Given the description of an element on the screen output the (x, y) to click on. 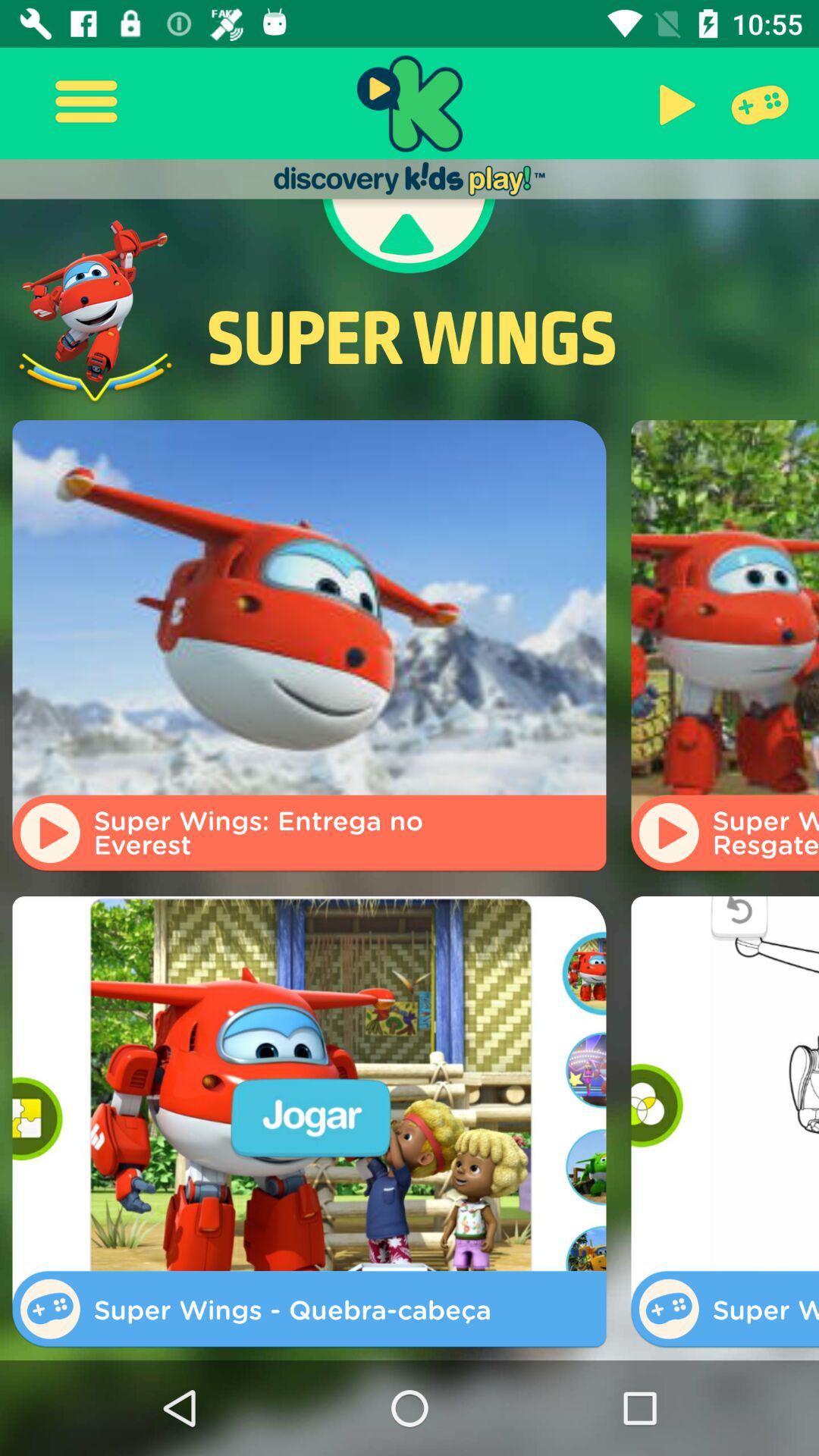
turn on the item to the left of the super wings icon (95, 311)
